Given the description of an element on the screen output the (x, y) to click on. 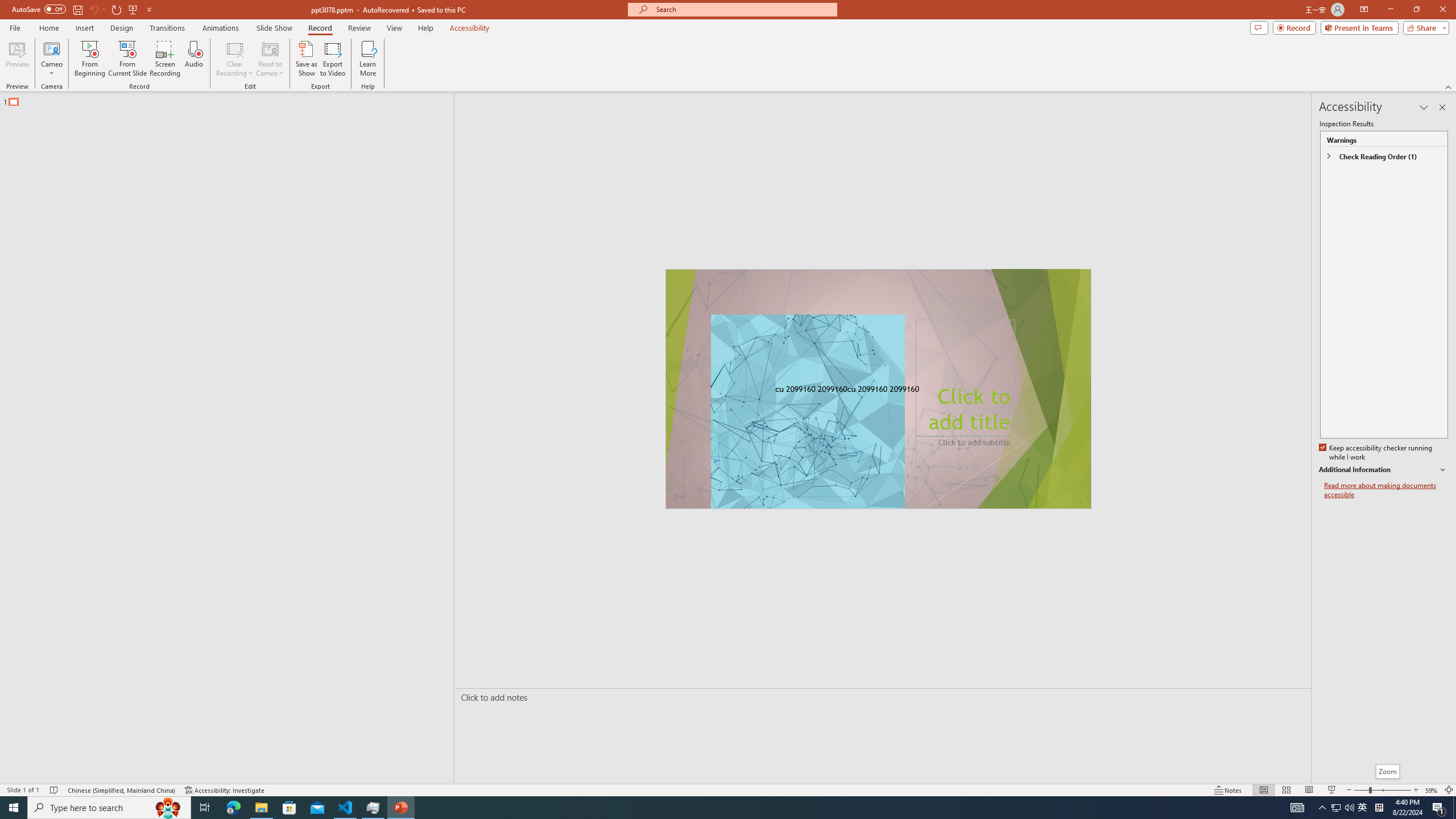
From Current Slide... (127, 58)
Learn More (368, 58)
Clear Recording (234, 58)
Outline (231, 99)
Export to Video (332, 58)
Zoom 59% (1431, 790)
TextBox 61 (877, 389)
